Given the description of an element on the screen output the (x, y) to click on. 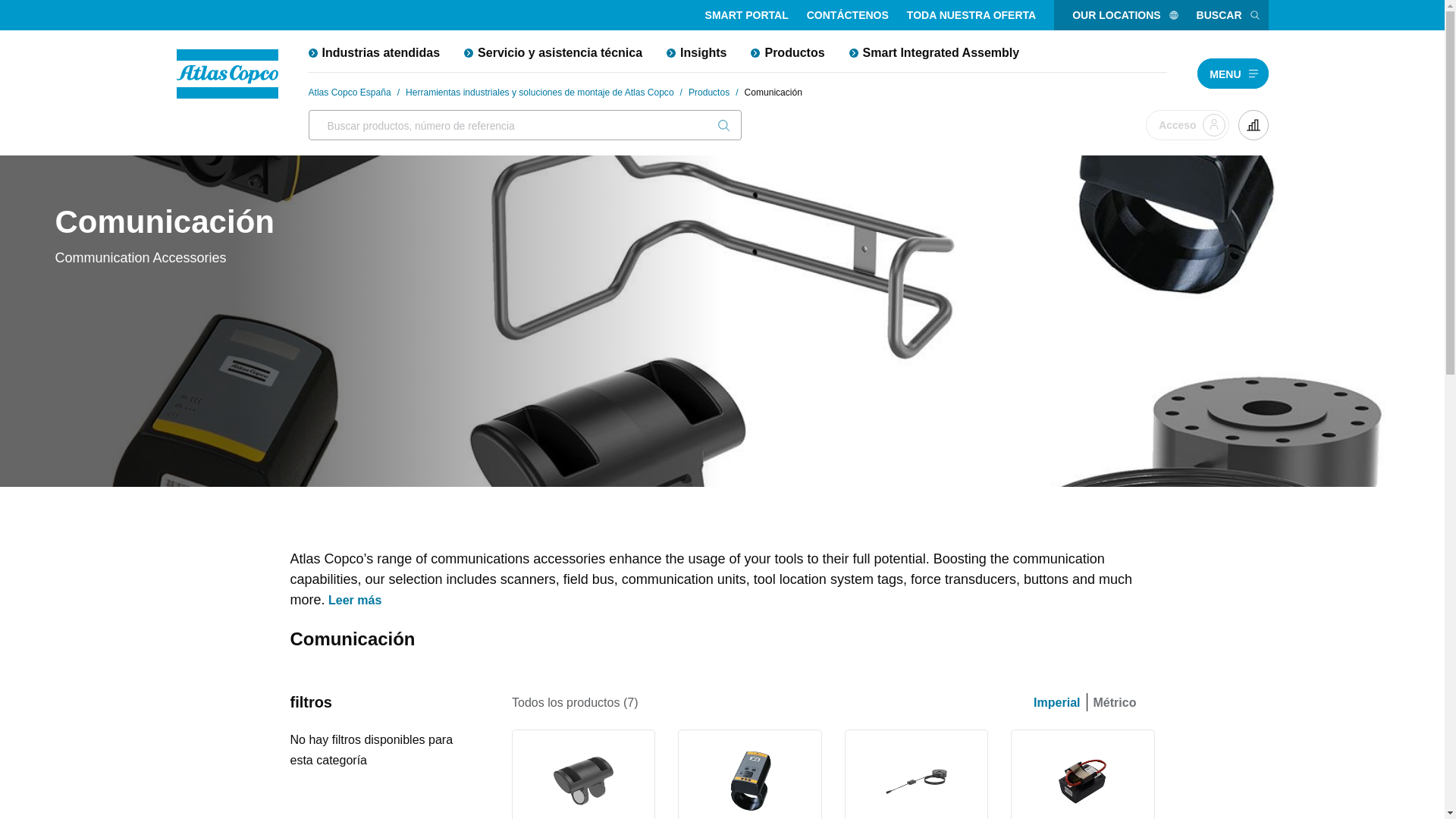
MENU (1232, 72)
TODA NUESTRA OFERTA (971, 15)
Acceso (1186, 124)
Industrias atendidas (373, 52)
SMART PORTAL (746, 15)
Smart Integrated Assembly (934, 52)
Productos (708, 92)
OUR LOCATIONS (1125, 15)
Productos (786, 52)
